Given the description of an element on the screen output the (x, y) to click on. 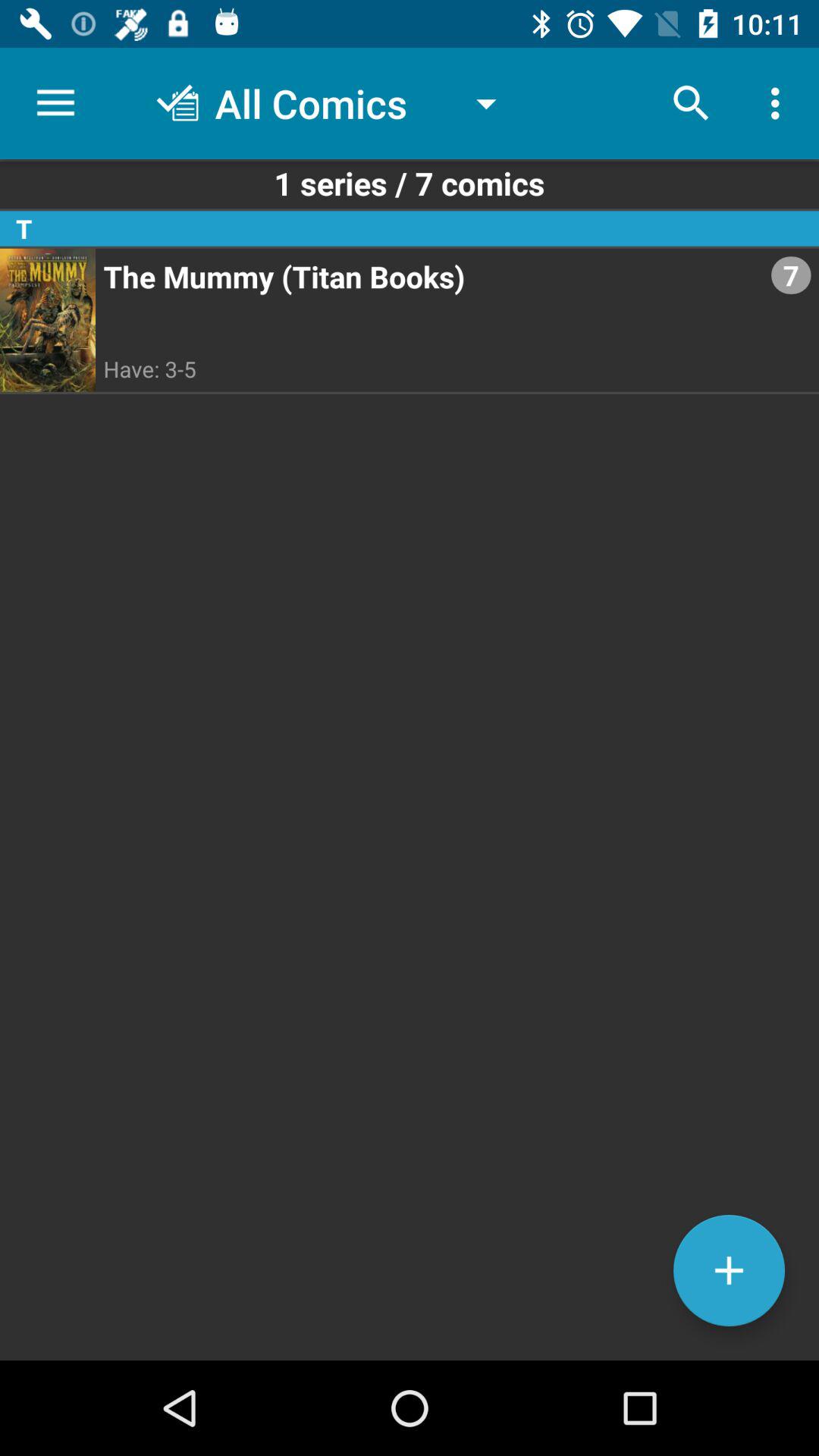
add a new item (728, 1270)
